Given the description of an element on the screen output the (x, y) to click on. 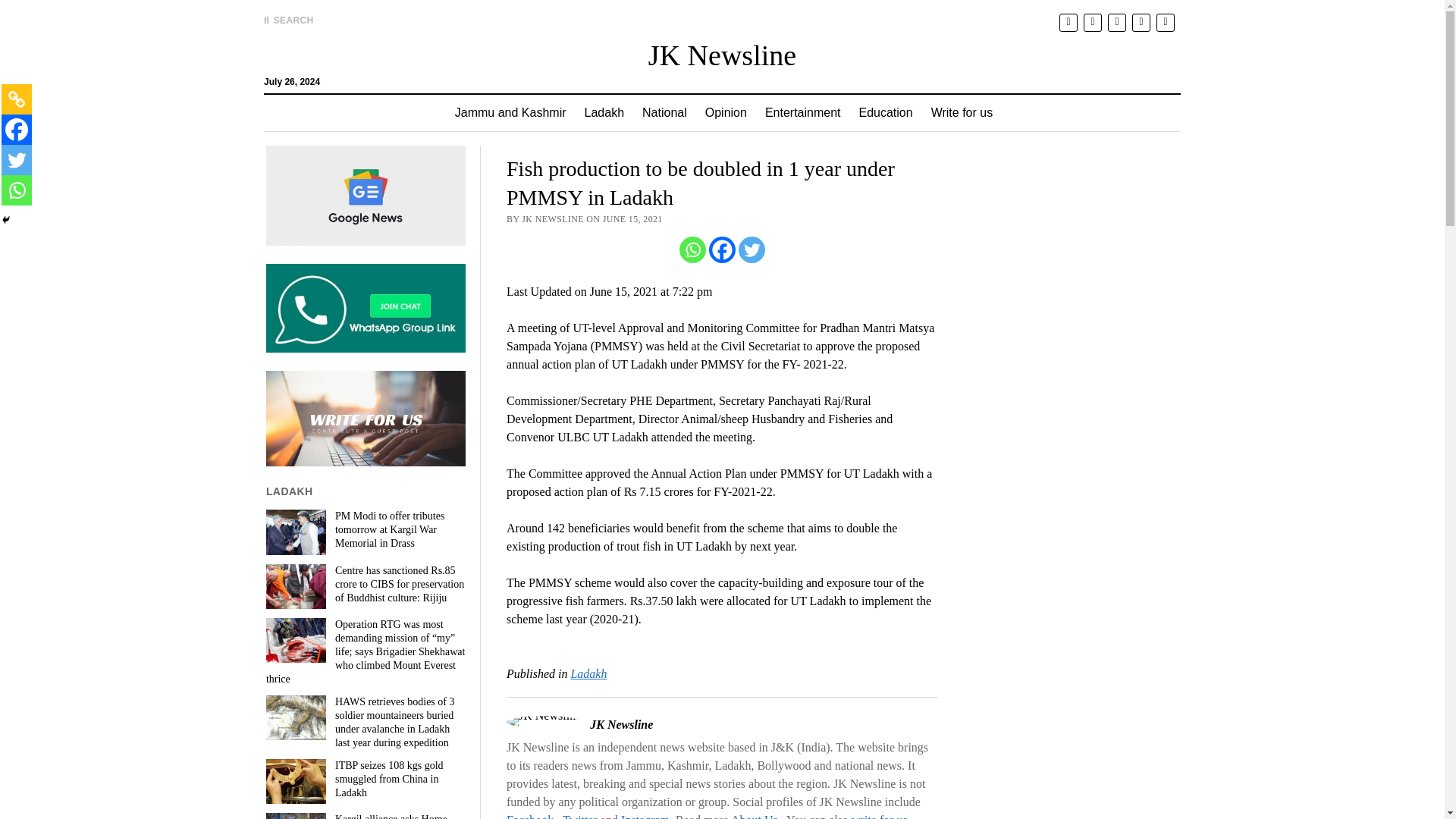
Hide (5, 219)
Search (945, 129)
ITBP seizes 108 kgs gold smuggled from China in Ladakh (365, 779)
Twitter (751, 249)
JK Newsline (721, 55)
Jammu and Kashmir (510, 113)
Twitter (16, 159)
Ladakh (604, 113)
Facebook (722, 249)
Opinion (725, 113)
Whatsapp (692, 249)
Copy Link (16, 99)
Write for us (962, 113)
